Given the description of an element on the screen output the (x, y) to click on. 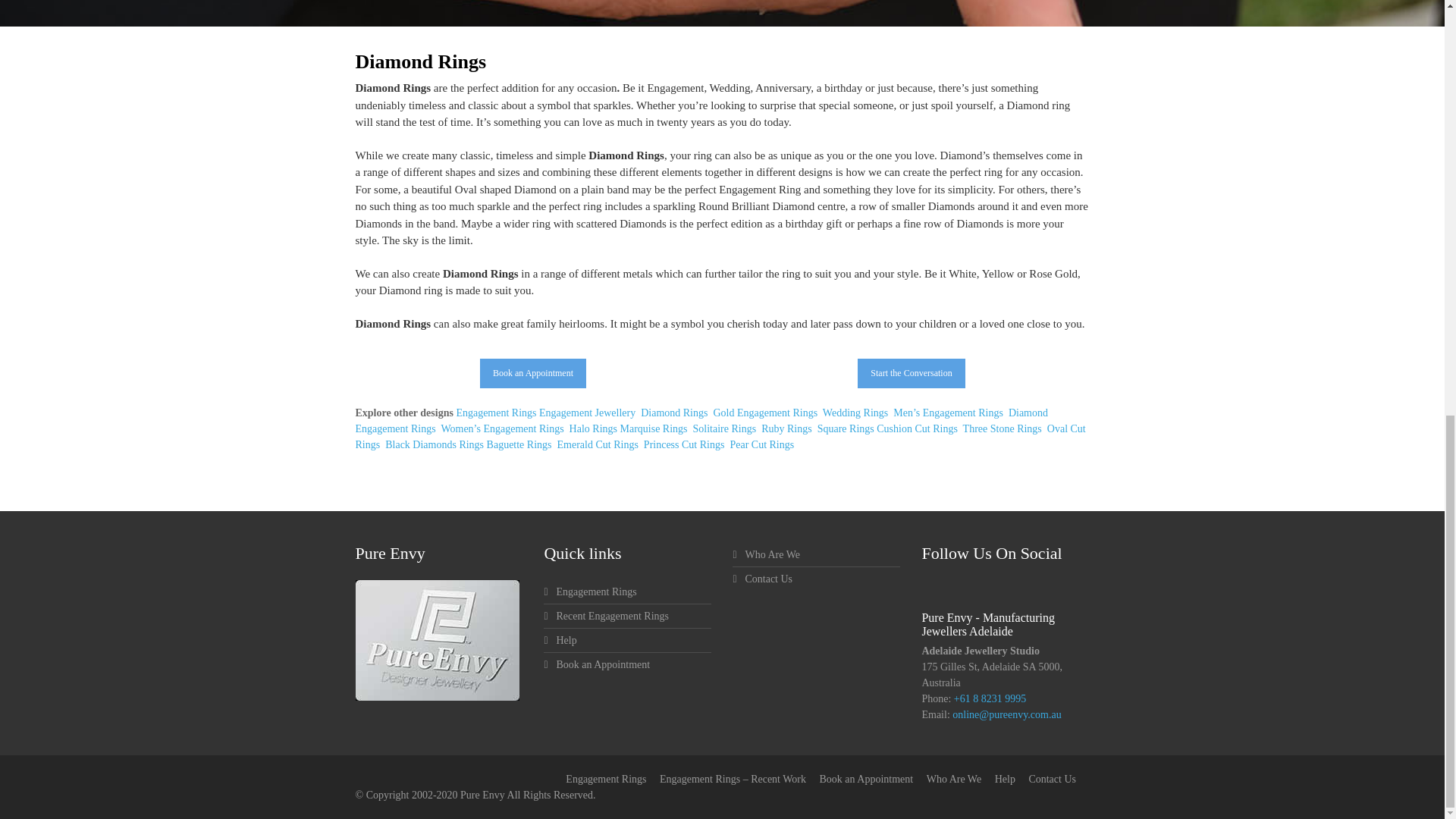
Engagement Rings (495, 412)
 Diamond Rings (673, 412)
Book an Appointment (533, 373)
 Gold Engagement Rings (763, 412)
Start the Conversation (910, 373)
Engagement Jewellery (586, 412)
 Wedding Rings (854, 412)
Diamond Engagement Rings (701, 420)
